Given the description of an element on the screen output the (x, y) to click on. 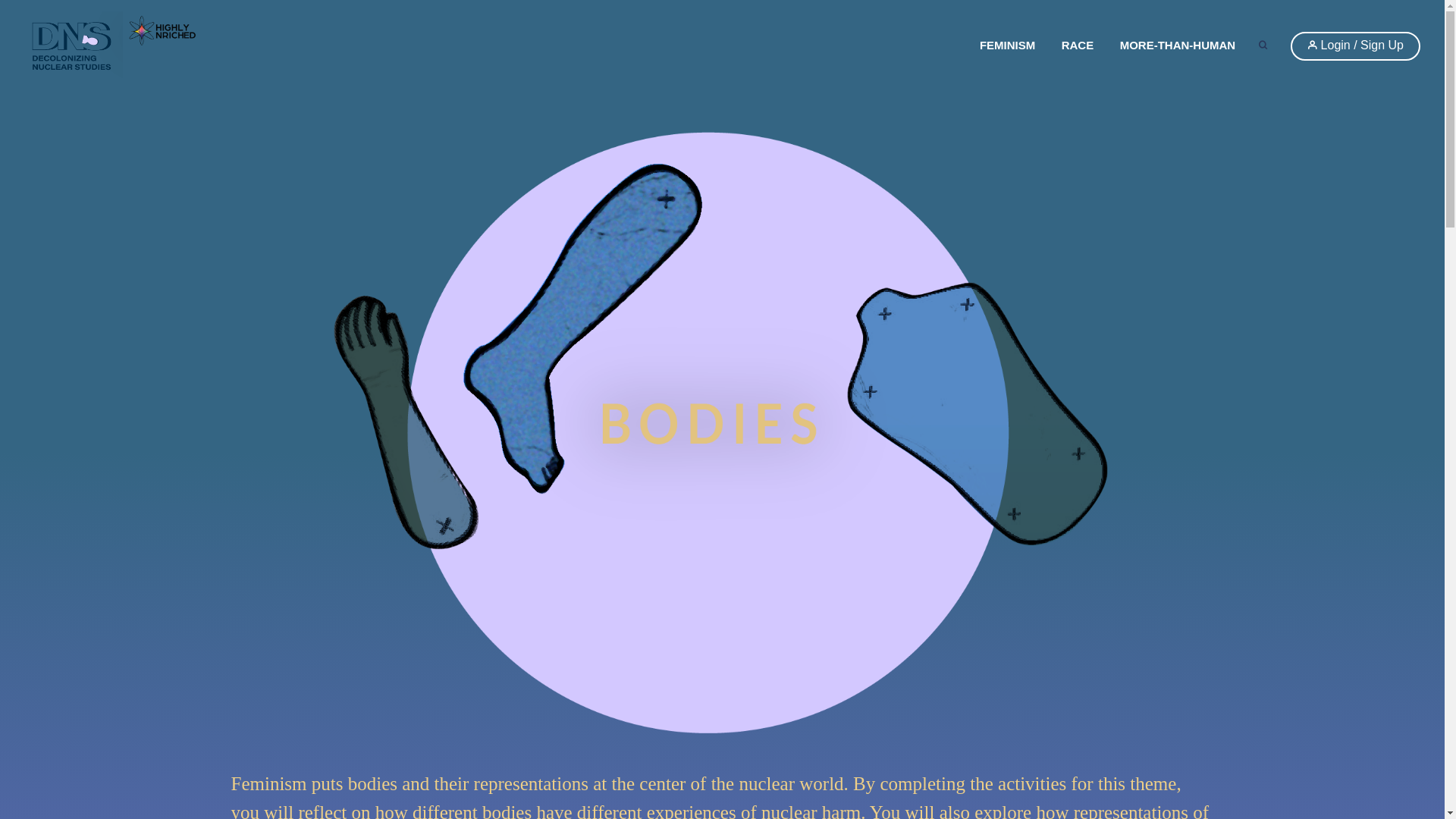
MORE-THAN-HUMAN (1177, 45)
FEMINISM (1007, 45)
RACE (1077, 45)
